Given the description of an element on the screen output the (x, y) to click on. 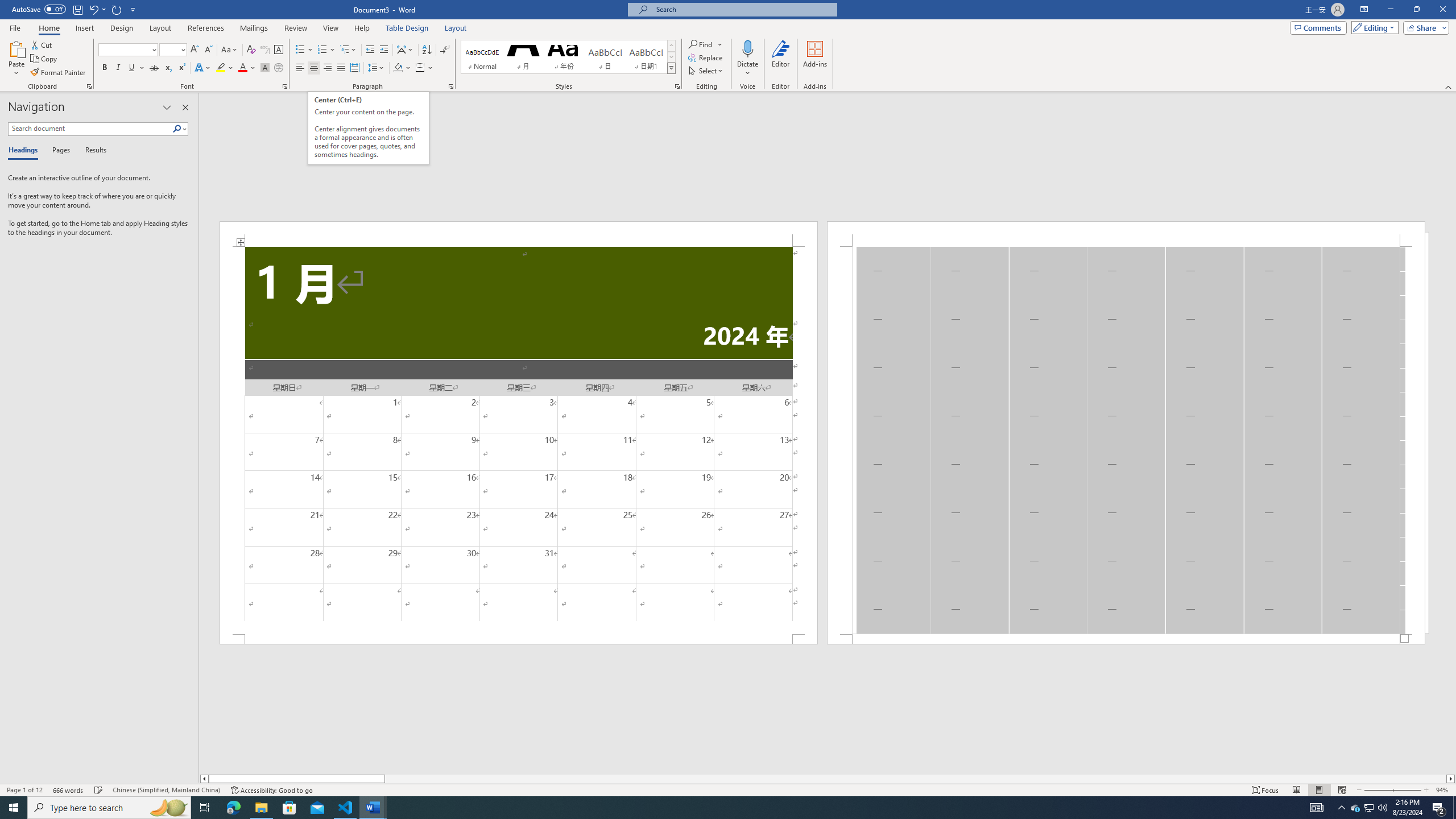
Align Left (300, 67)
Sort... (426, 49)
Line and Paragraph Spacing (376, 67)
Row Down (670, 56)
Footer -Section 1- (1126, 638)
Superscript (180, 67)
Accessibility Checker Accessibility: Good to go (271, 790)
Character Shading (264, 67)
Increase Indent (383, 49)
